Given the description of an element on the screen output the (x, y) to click on. 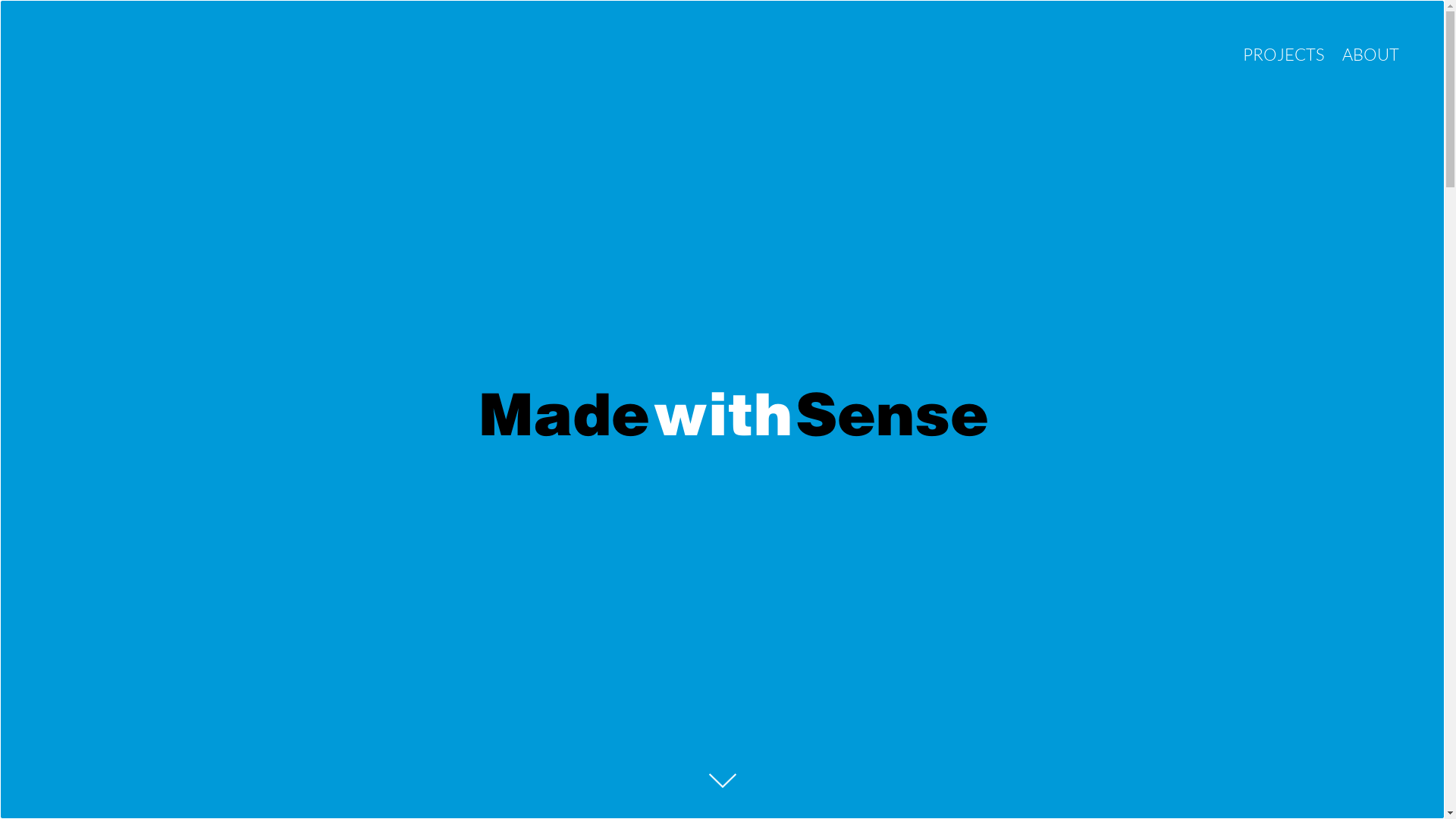
PROJECTS Element type: text (1283, 53)
ABOUT Element type: text (1370, 53)
